Given the description of an element on the screen output the (x, y) to click on. 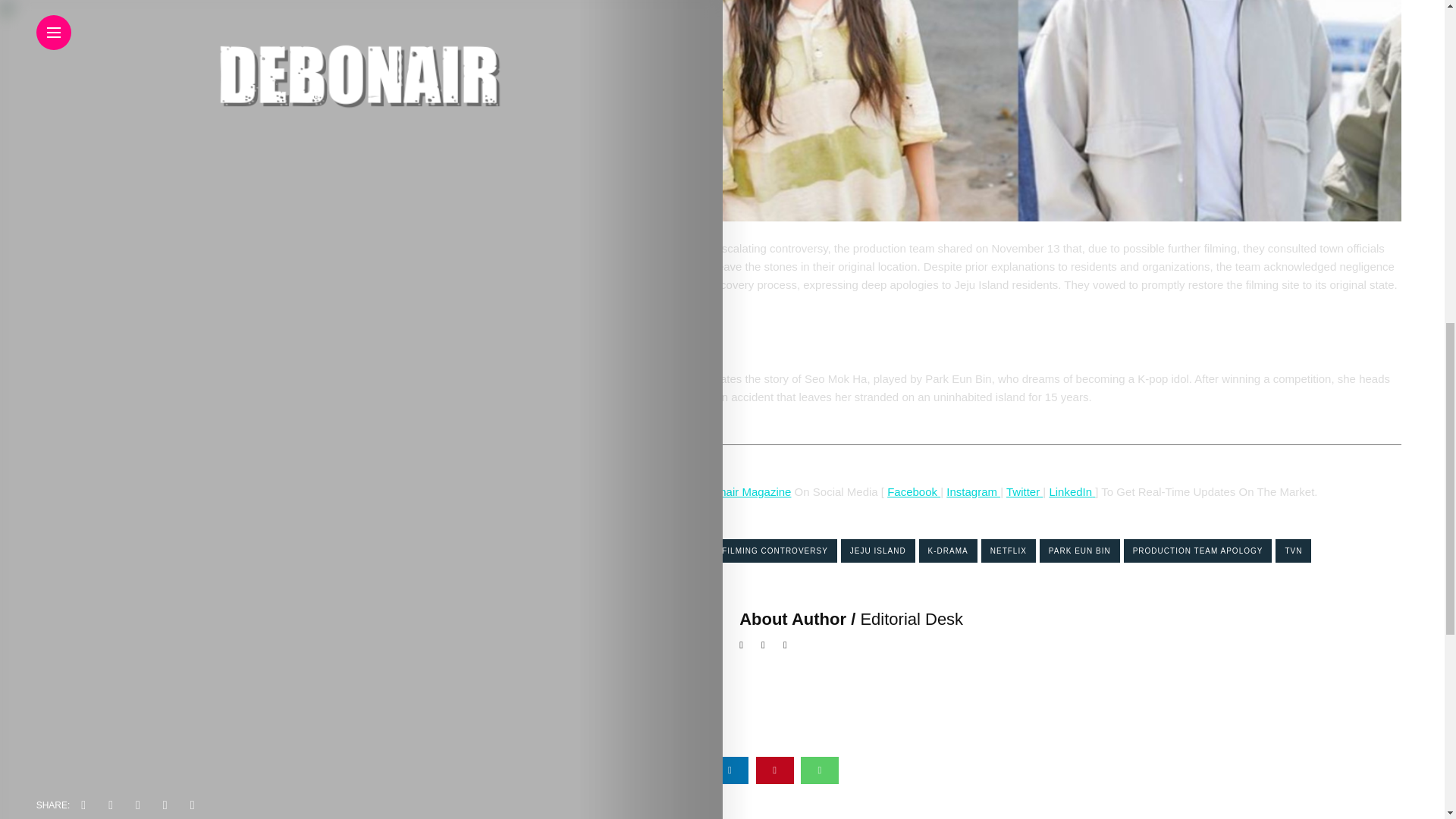
CASTAWAY DIVA (665, 550)
facebook (640, 769)
Instagram  (973, 491)
Facebook  (913, 491)
LinkedIn (1070, 491)
FILMING CONTROVERSY (775, 550)
Posts by Editorial Desk (911, 618)
Twitter (1022, 491)
Debonair Magazine (741, 491)
